Given the description of an element on the screen output the (x, y) to click on. 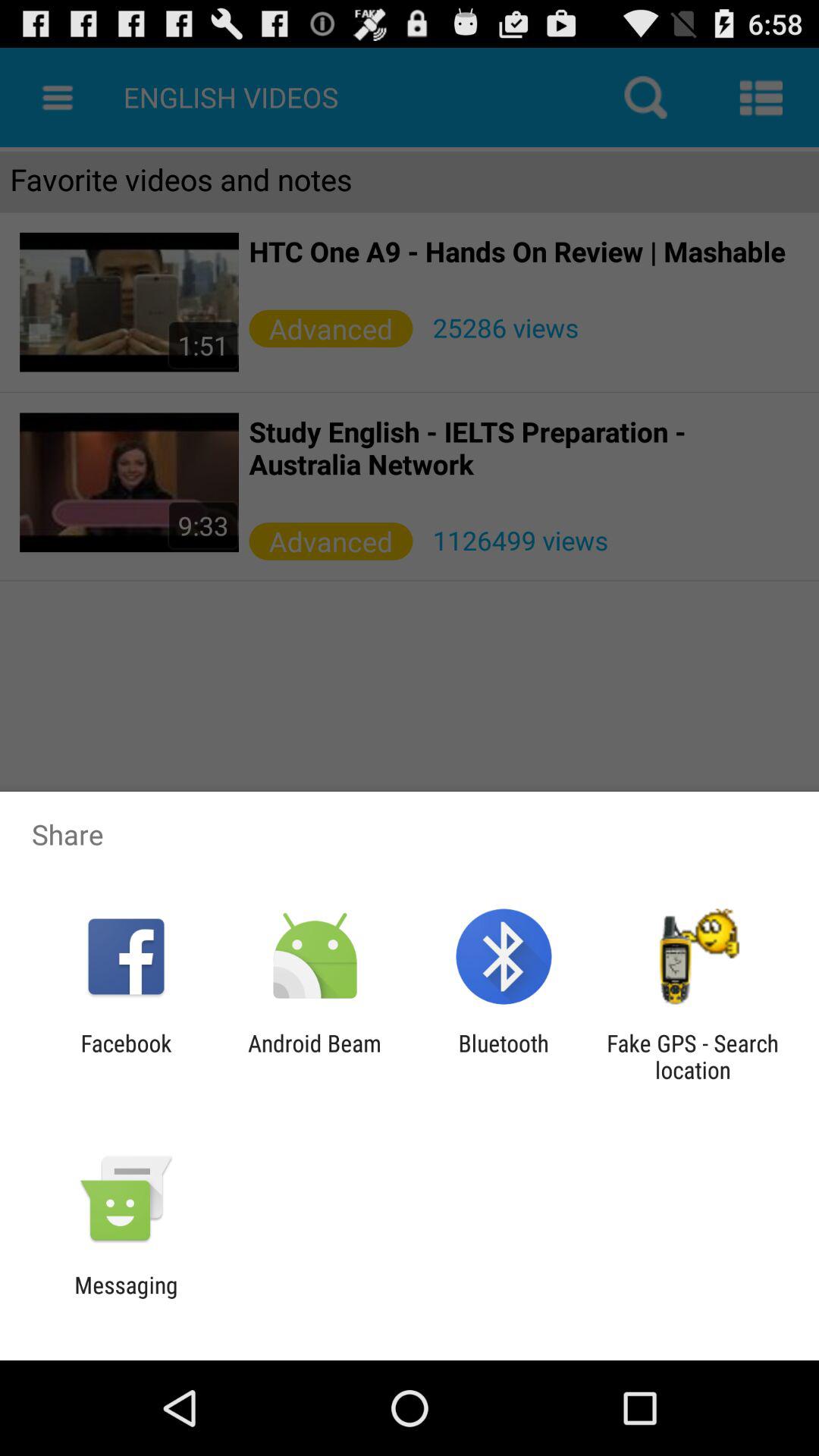
select icon to the left of fake gps search (503, 1056)
